Given the description of an element on the screen output the (x, y) to click on. 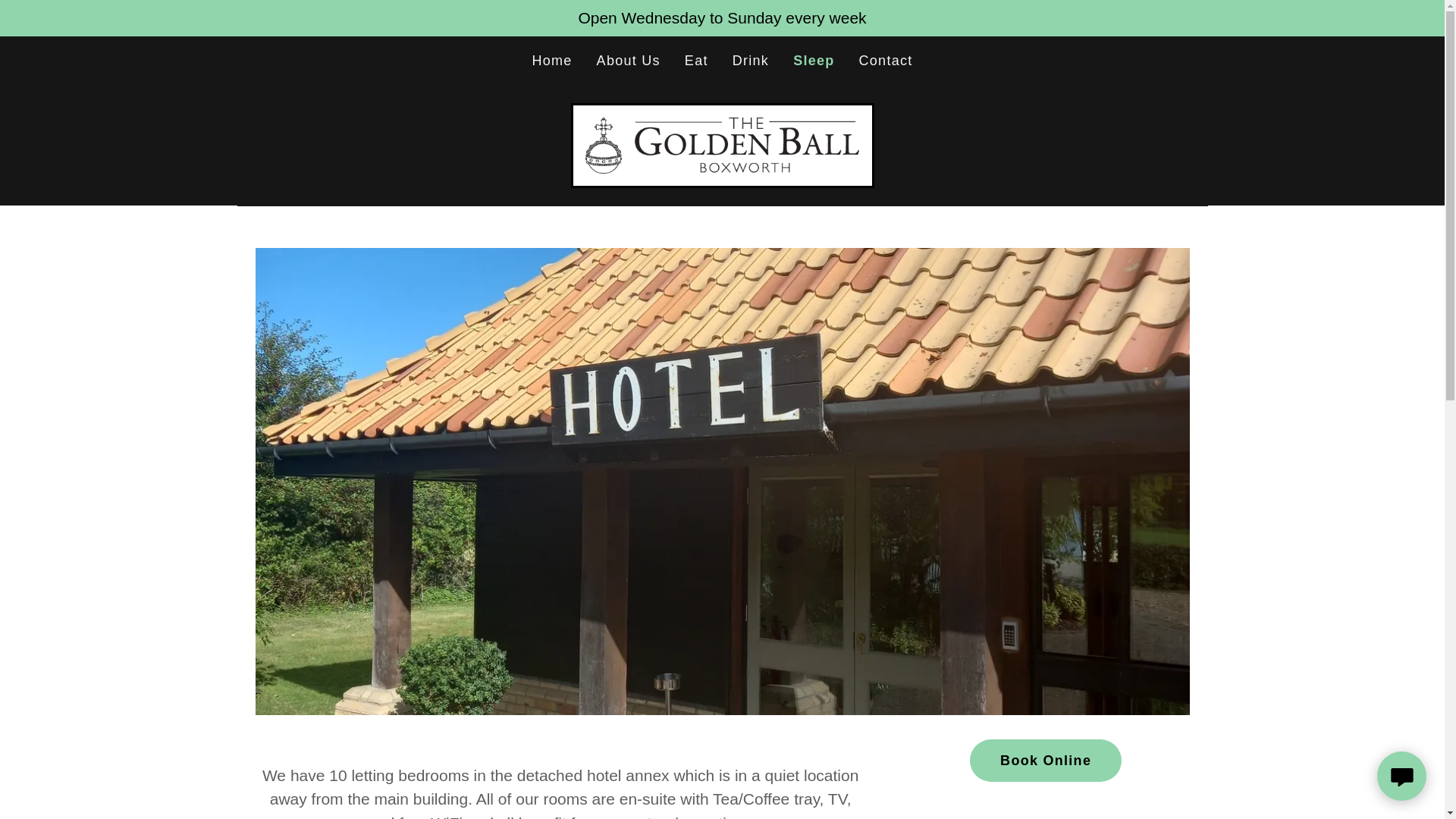
Contact (885, 60)
Home (551, 60)
Golden Ball Hotel (722, 143)
About Us (628, 60)
Book Online (1045, 760)
Drink (750, 60)
Sleep (813, 60)
Eat (696, 60)
